Given the description of an element on the screen output the (x, y) to click on. 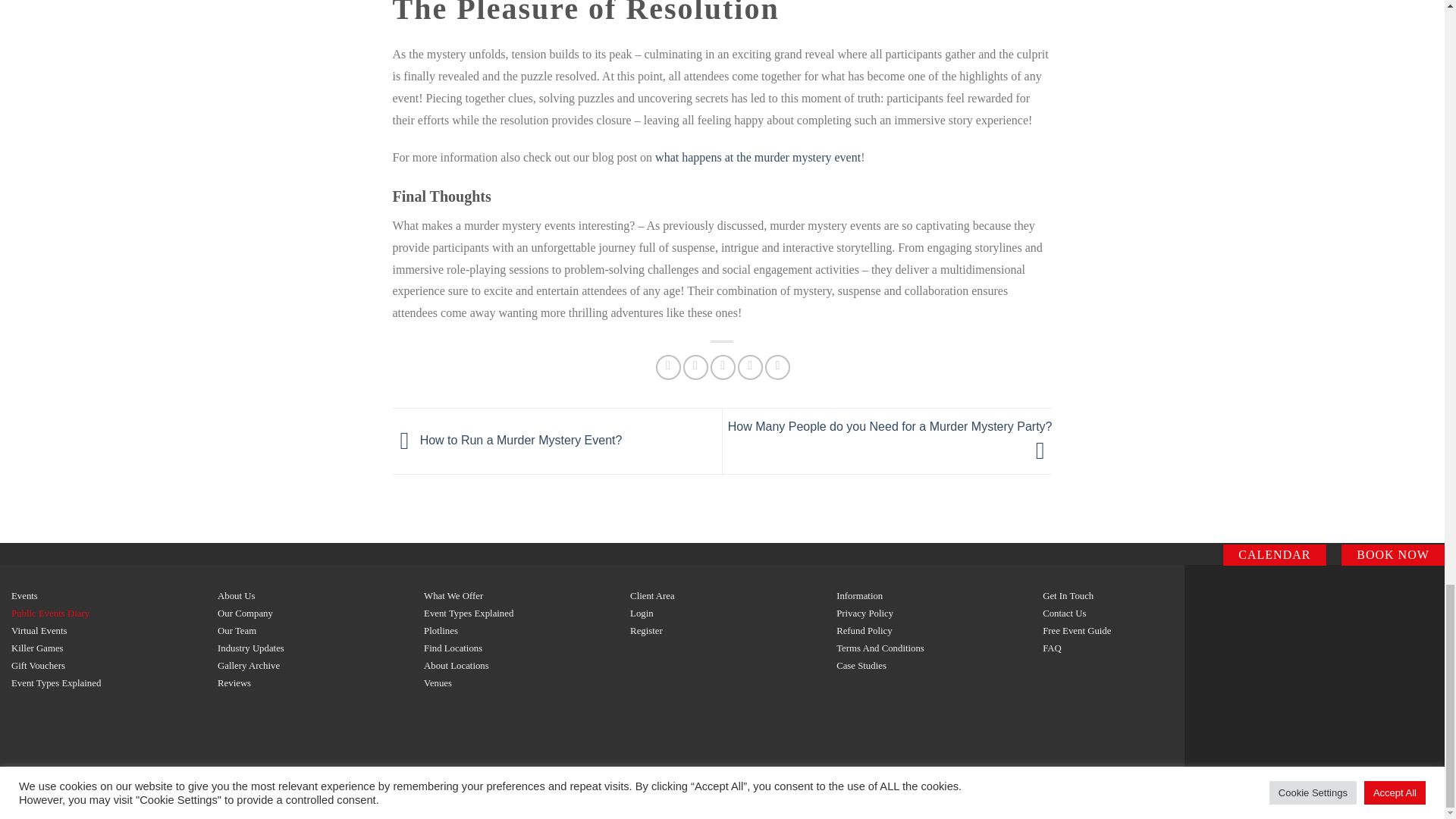
Pin on Pinterest (750, 367)
what happens at the murder mystery event (757, 156)
Gift Vouchers (38, 665)
CALENDAR (1273, 554)
Our Company (244, 613)
Share on Twitter (694, 367)
How Many People do you Need for a Murder Mystery Party? (890, 438)
Killer Games (37, 647)
Email to a Friend (722, 367)
How to Run a Murder Mystery Event? (508, 440)
Public Events Diary (49, 613)
Virtual Events (38, 630)
Share on LinkedIn (777, 367)
Share on Facebook (668, 367)
Our Team (236, 630)
